Given the description of an element on the screen output the (x, y) to click on. 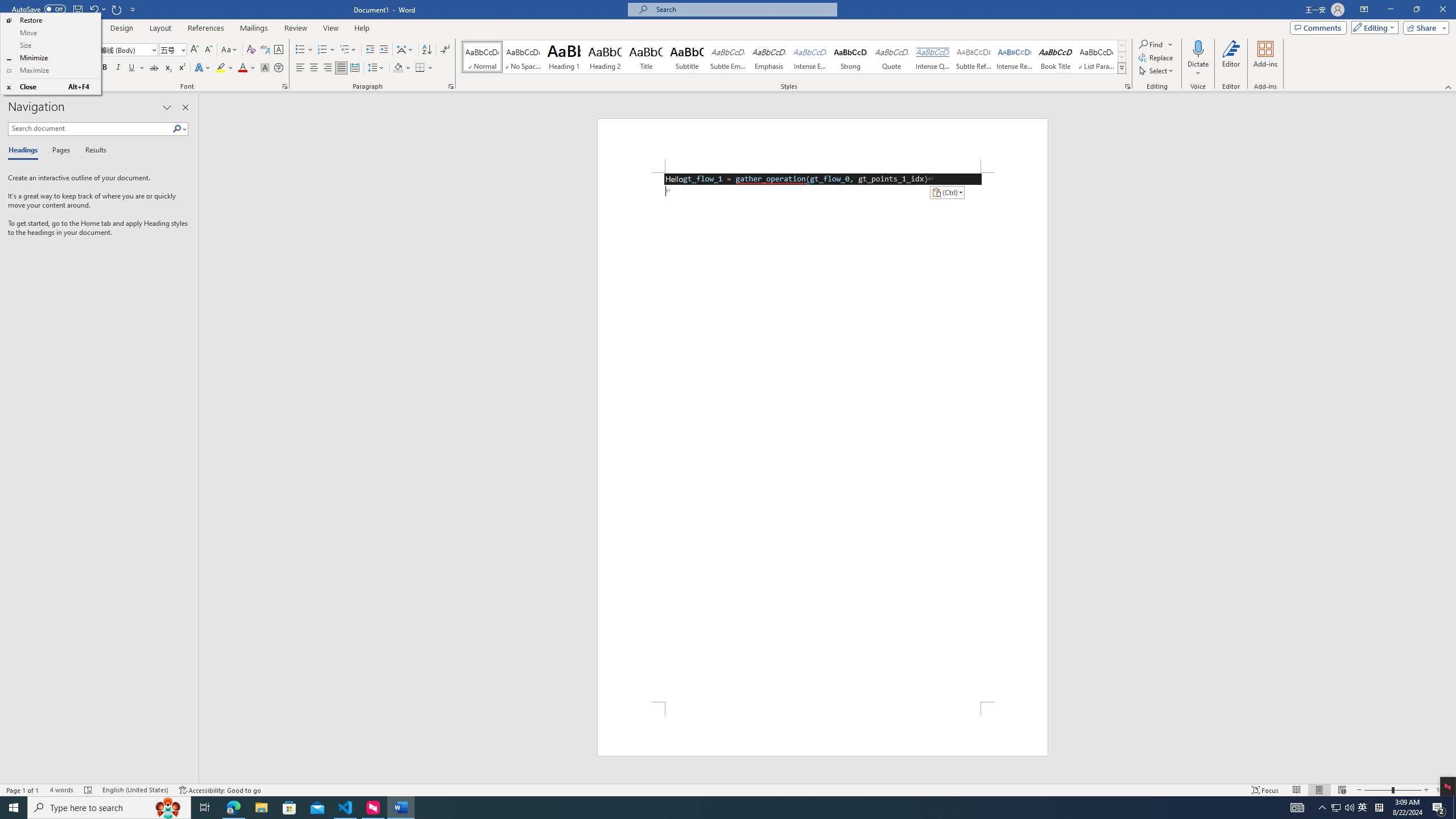
Repeat Paste (117, 9)
